Given the description of an element on the screen output the (x, y) to click on. 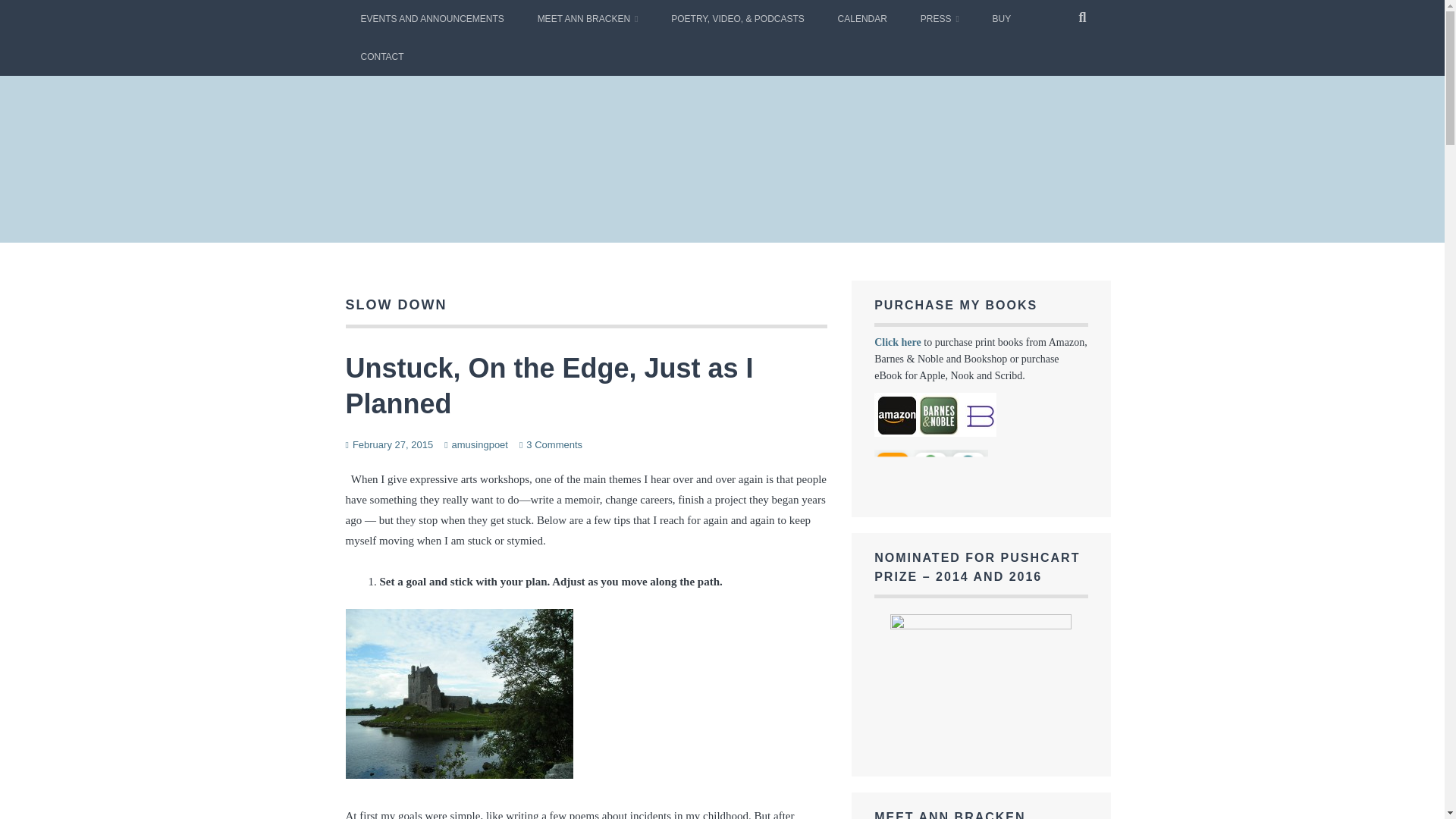
amusingpoet (479, 444)
CALENDAR (862, 18)
PRESS (939, 18)
SEARCH (1083, 18)
Unstuck, On the Edge, Just as I Planned (550, 385)
BUY (1001, 18)
February 27, 2015 (392, 444)
MEET ANN BRACKEN (587, 18)
CONTACT (382, 56)
Click here (898, 342)
EVENTS AND ANNOUNCEMENTS (432, 18)
3 Comments (553, 444)
